Given the description of an element on the screen output the (x, y) to click on. 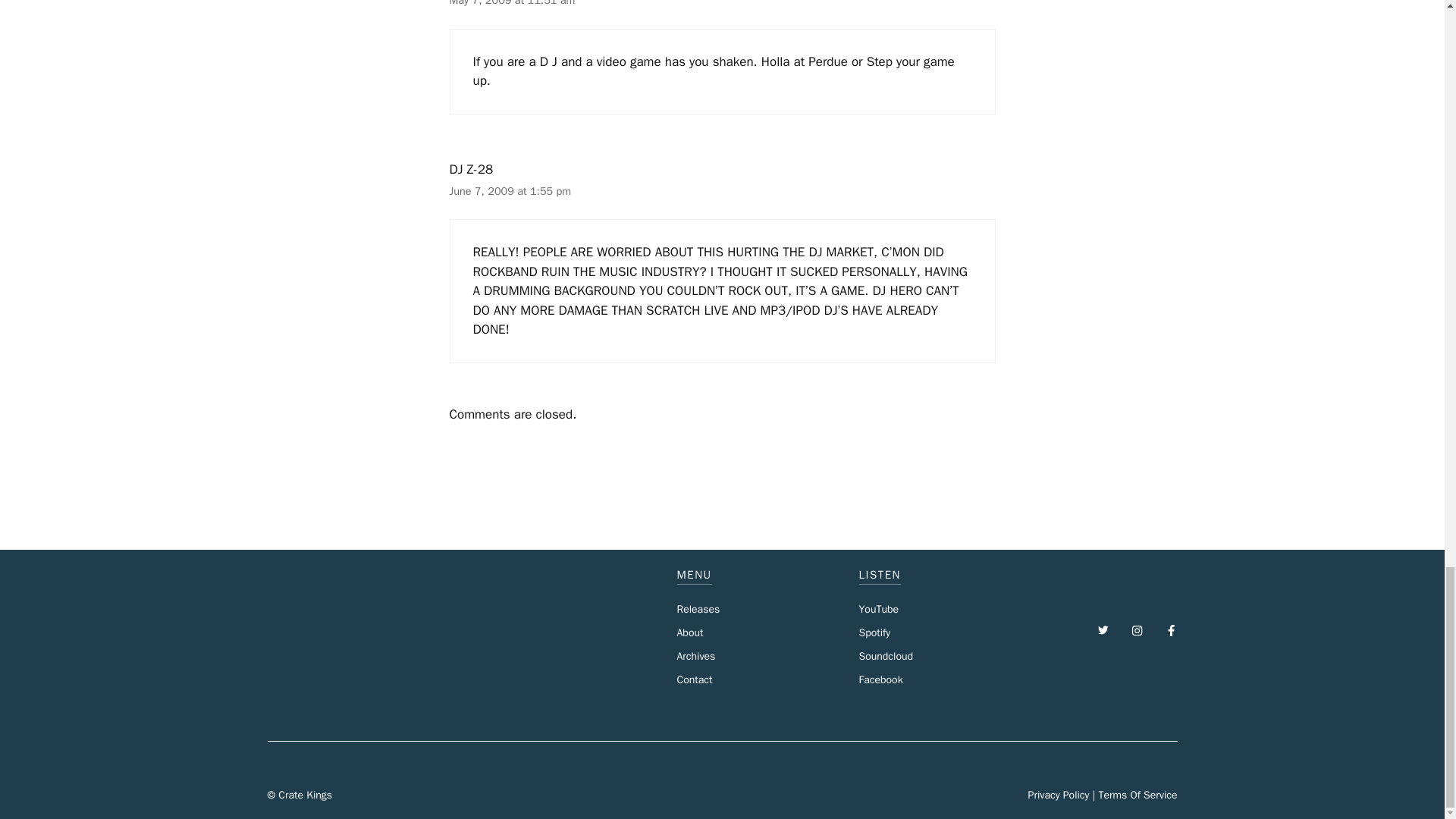
Soundcloud (885, 656)
June 7, 2009 at 1:55 pm (509, 191)
May 7, 2009 at 11:51 am (511, 3)
Terms Of Service (1136, 794)
Spotify (874, 632)
Facebook (880, 679)
About (690, 632)
Privacy Policy (1058, 794)
Archives (695, 656)
YouTube (878, 608)
